Given the description of an element on the screen output the (x, y) to click on. 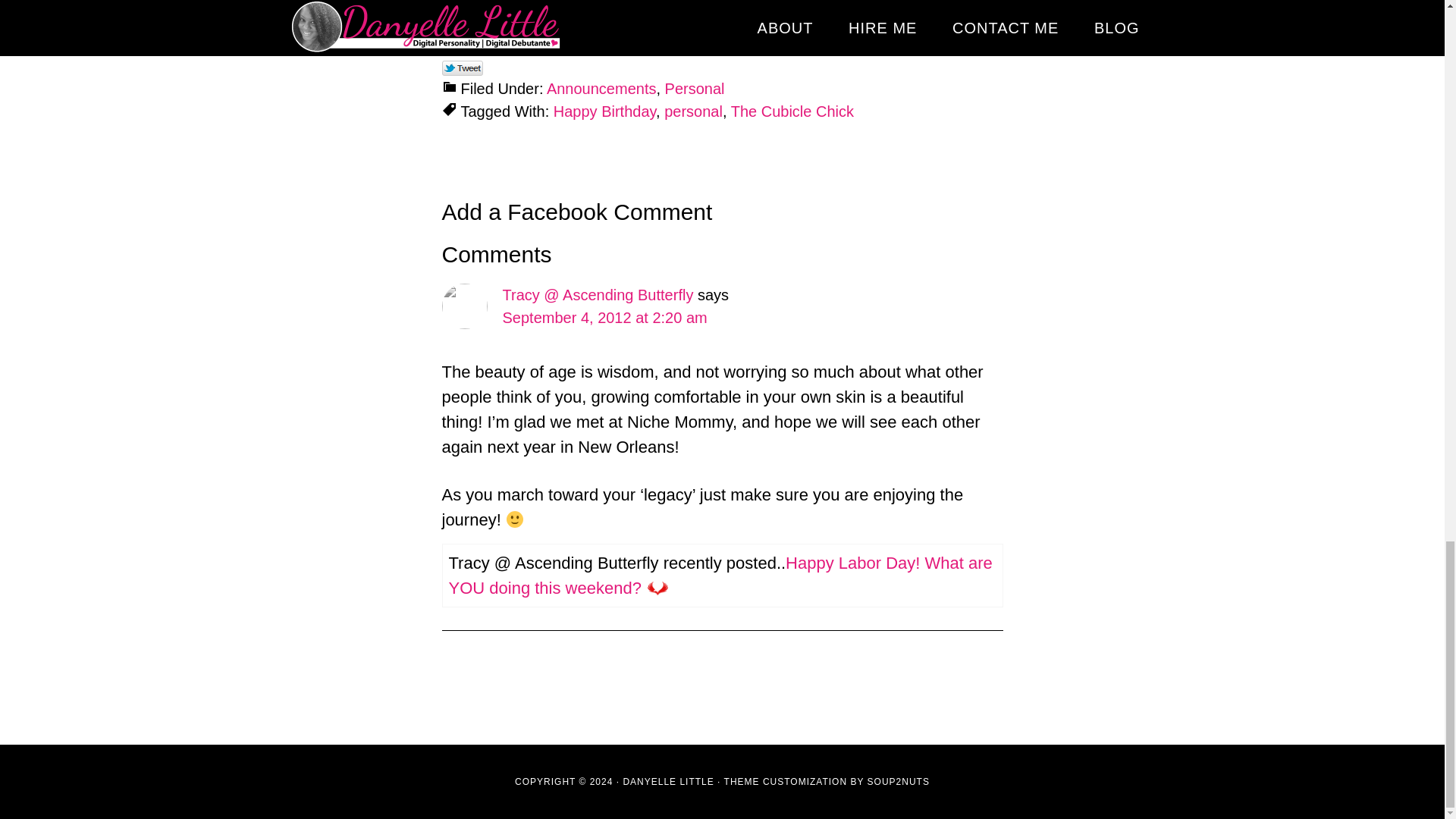
September 4, 2012 at 2:20 am (604, 317)
personal (692, 111)
The Cubicle Chick (791, 111)
SOUP2NUTS (898, 781)
Happy Labor Day! What are YOU doing this weekend? (720, 575)
Tweet (462, 68)
Personal (695, 88)
Announcements (601, 88)
Happy Birthday (604, 111)
